Given the description of an element on the screen output the (x, y) to click on. 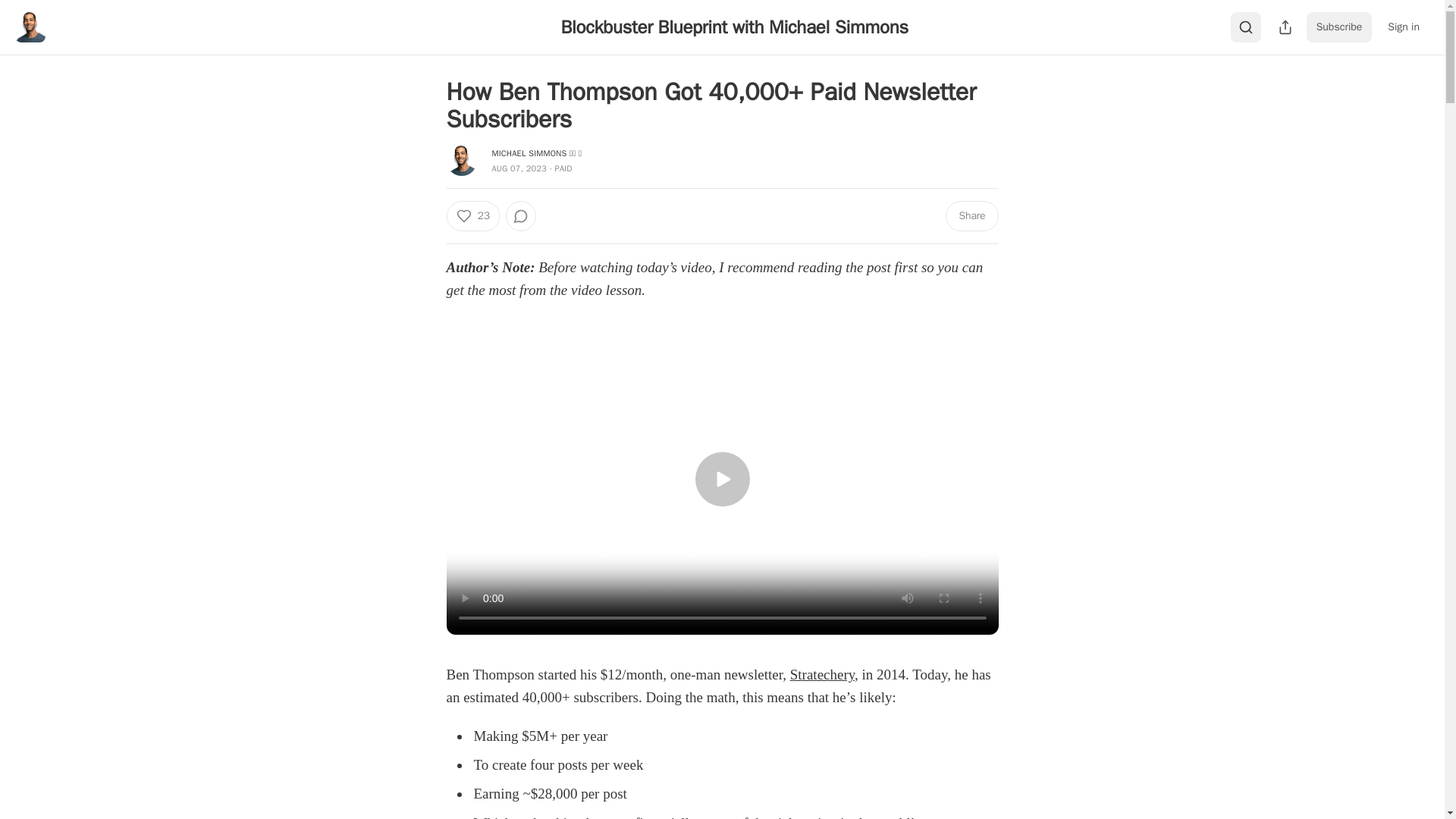
Subscribe (1339, 27)
Share (970, 215)
23 (472, 215)
Sign in (1403, 27)
Blockbuster Blueprint with Michael Simmons (733, 26)
Stratechery (822, 674)
